Given the description of an element on the screen output the (x, y) to click on. 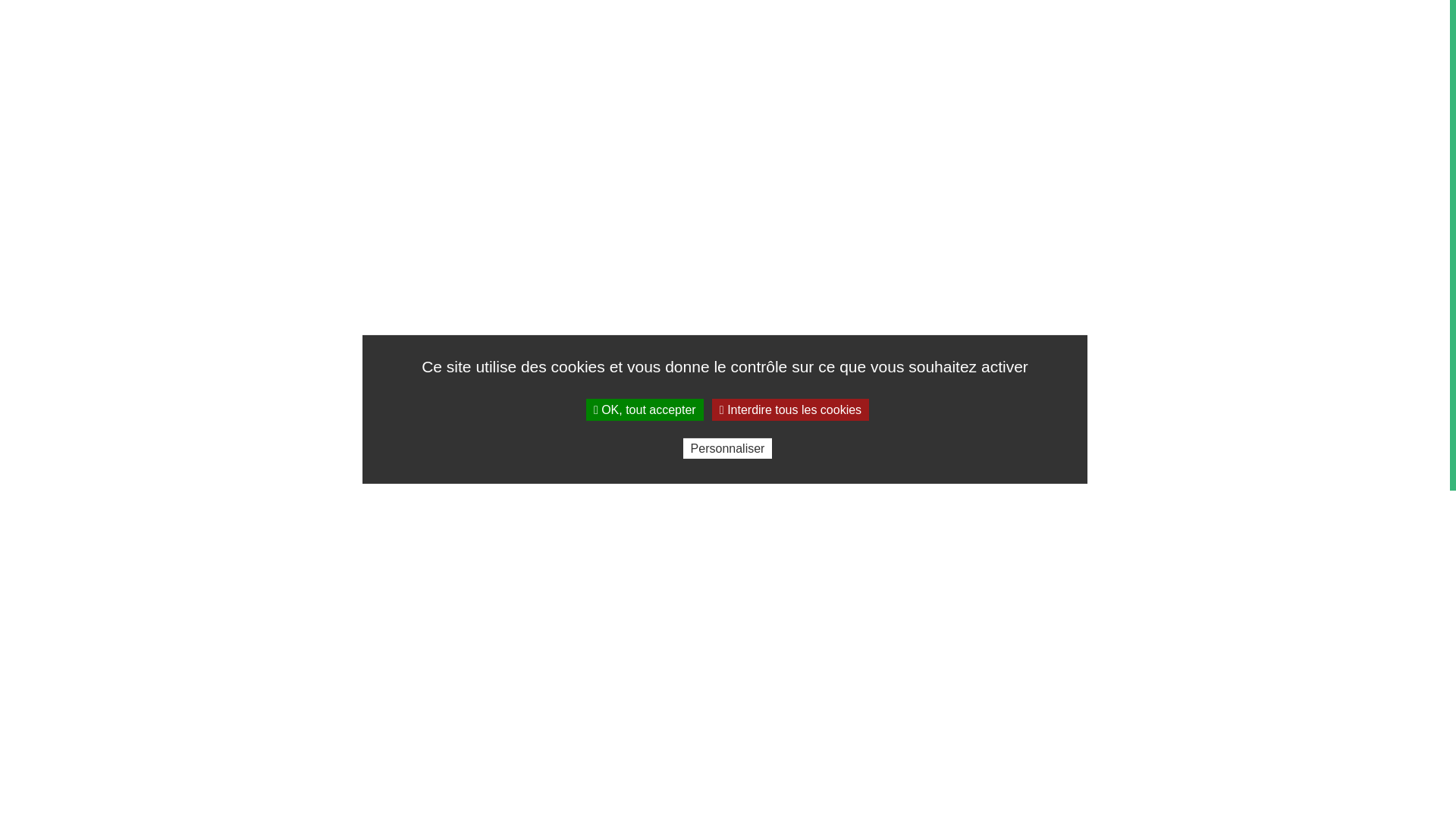
Contact Element type: text (63, 184)
Espace client Element type: text (77, 229)
Suivez-nous sur Facebook Element type: text (111, 247)
Nos partenaires Element type: text (83, 149)
Qui sommes-nous? Element type: text (92, 115)
Personnaliser Element type: text (727, 448)
Deutsch Element type: text (104, 282)
Assurances & Placements Element type: text (109, 131)
